Given the description of an element on the screen output the (x, y) to click on. 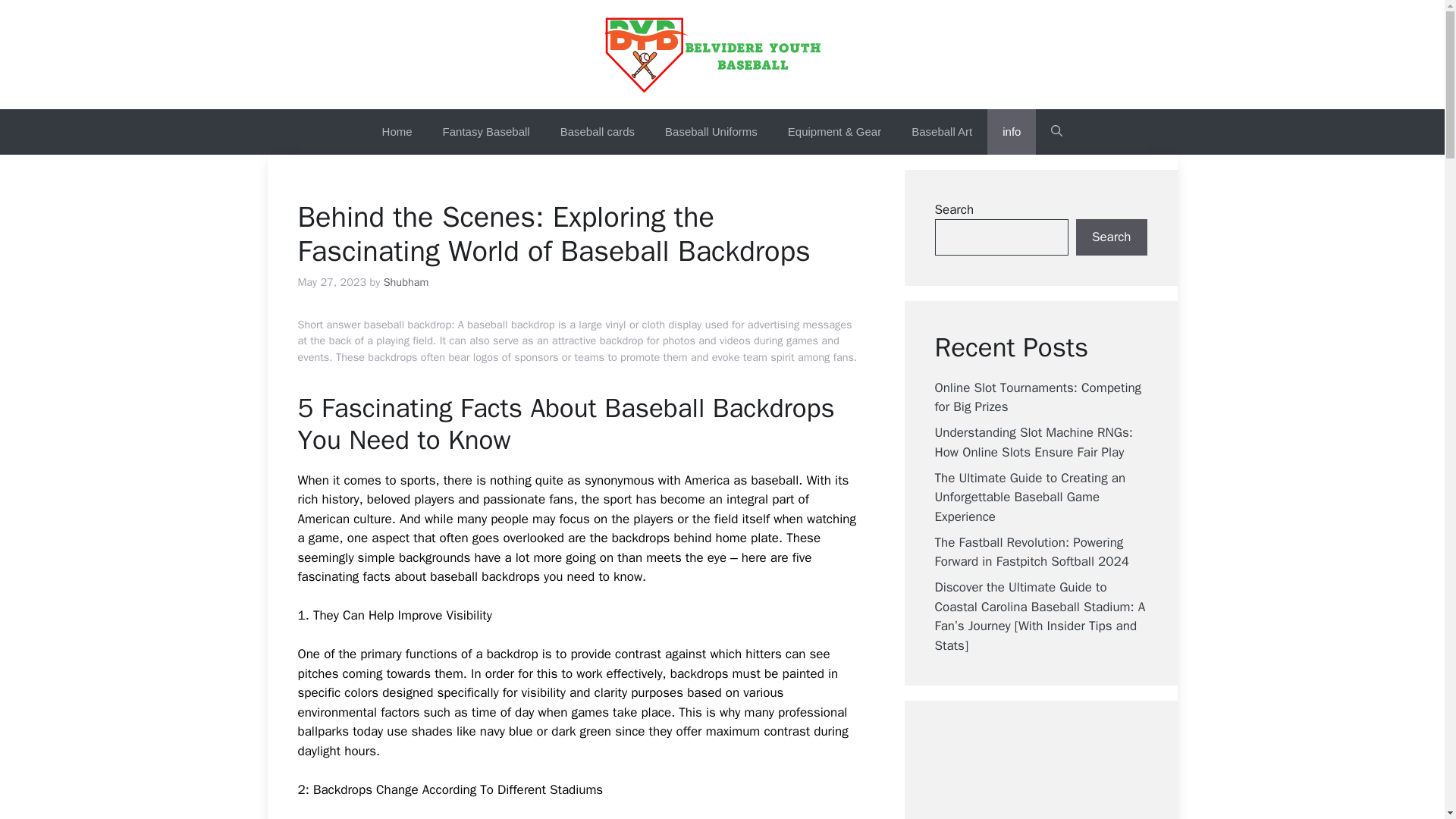
Fantasy Baseball (486, 131)
Baseball Art (941, 131)
Home (397, 131)
Shubham (406, 282)
Advertisement (1066, 775)
info (1011, 131)
View all posts by Shubham (406, 282)
Search (1111, 237)
Online Slot Tournaments: Competing for Big Prizes (1037, 397)
